Given the description of an element on the screen output the (x, y) to click on. 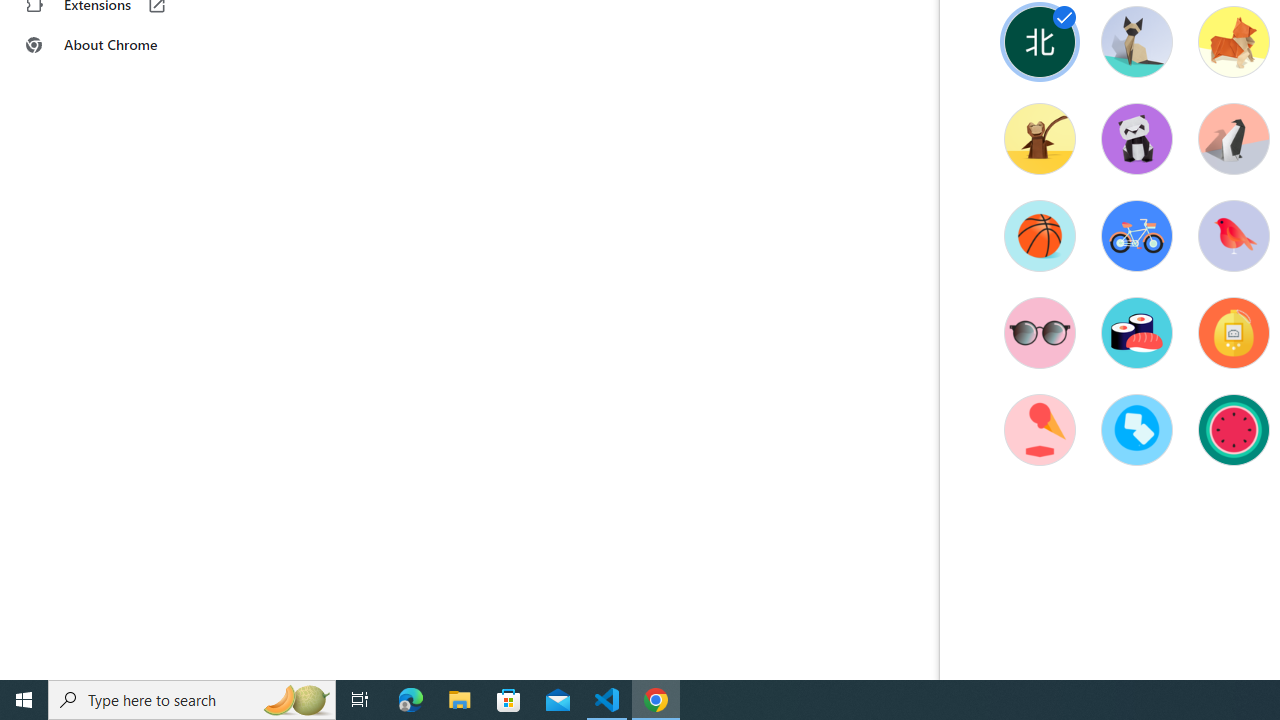
About Chrome (124, 44)
Microsoft Edge (411, 699)
Type here to search (191, 699)
Microsoft Store (509, 699)
Visual Studio Code - 1 running window (607, 699)
Search highlights icon opens search home window (295, 699)
Task View (359, 699)
Start (24, 699)
File Explorer (460, 699)
Google Chrome - 1 running window (656, 699)
